Given the description of an element on the screen output the (x, y) to click on. 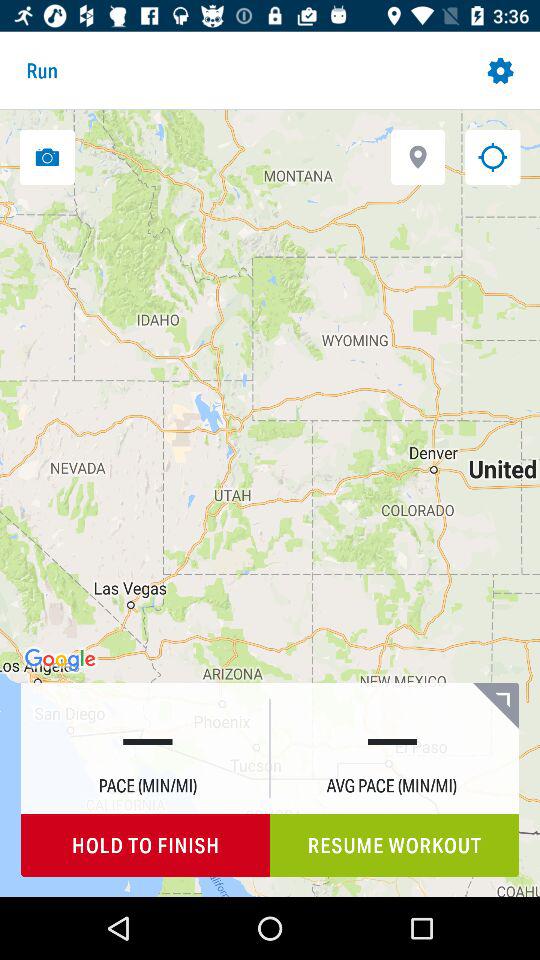
turn on the icon above the resume workout item (495, 705)
